Given the description of an element on the screen output the (x, y) to click on. 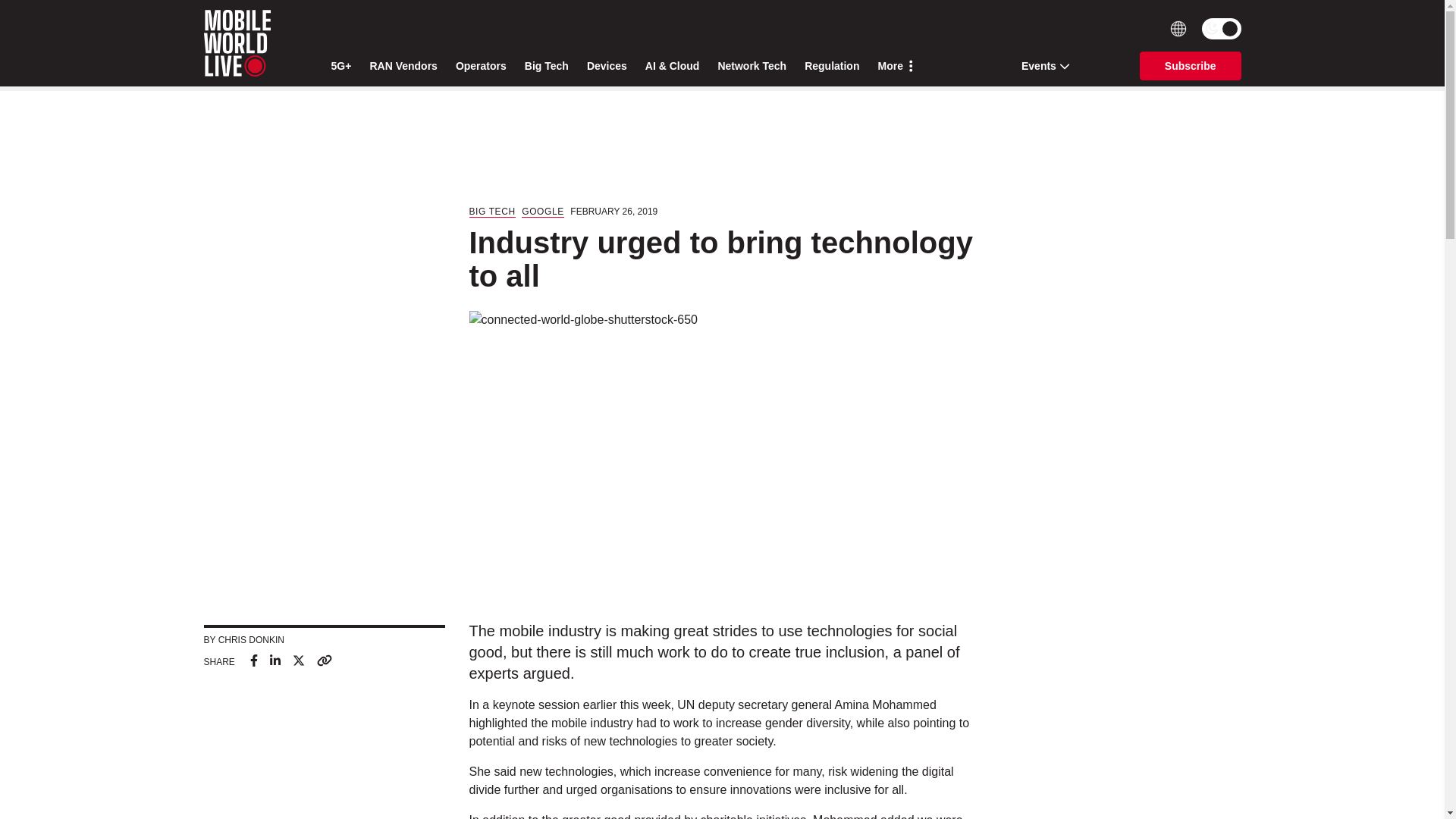
Big Tech (546, 65)
Events (1040, 65)
Regulation (832, 65)
Devices (606, 65)
RAN Vendors (402, 65)
Network Tech (751, 65)
Operators (480, 65)
Subscribe (1190, 65)
